Given the description of an element on the screen output the (x, y) to click on. 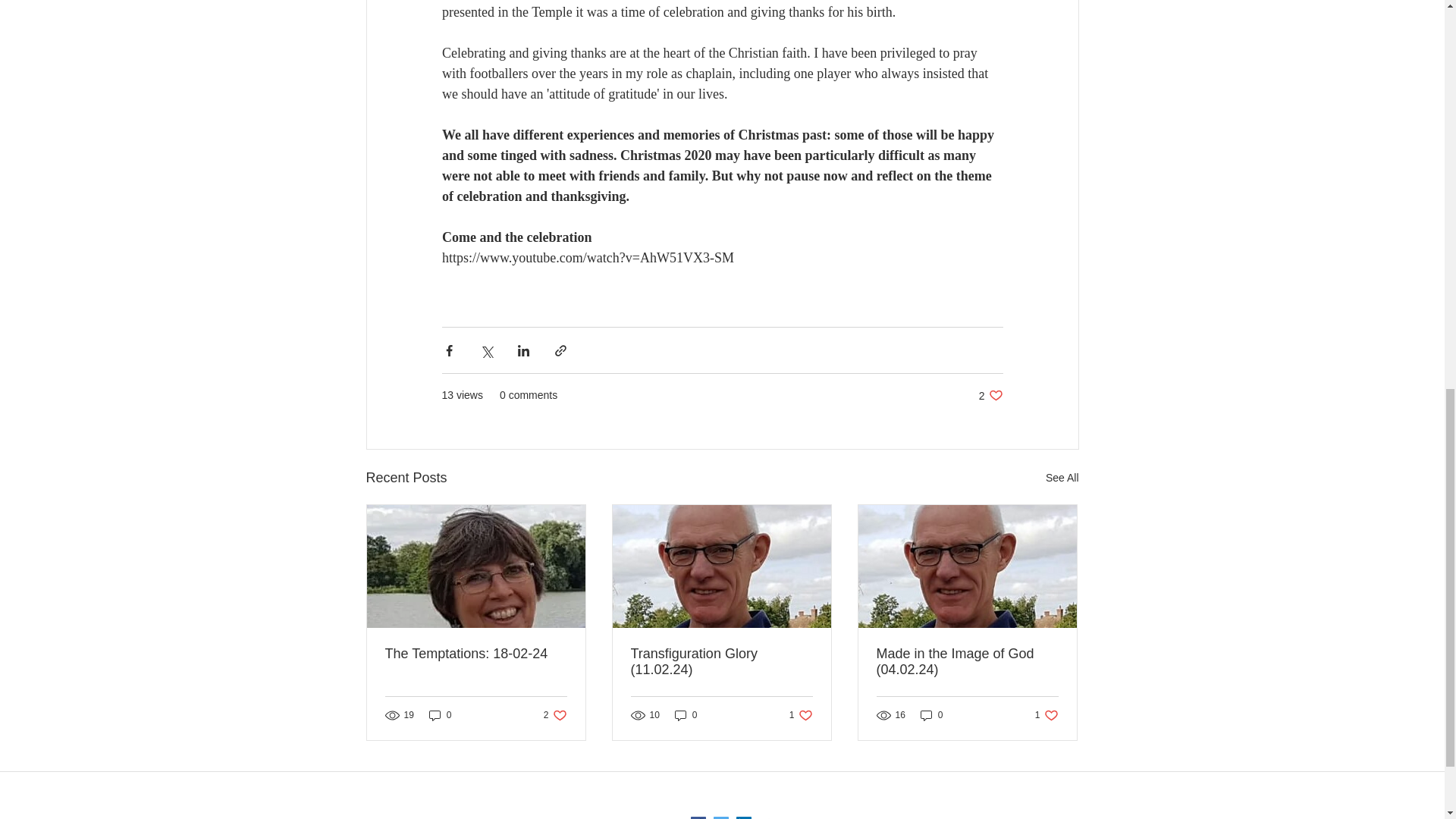
The Temptations: 18-02-24 (990, 395)
0 (476, 653)
See All (440, 715)
